Given the description of an element on the screen output the (x, y) to click on. 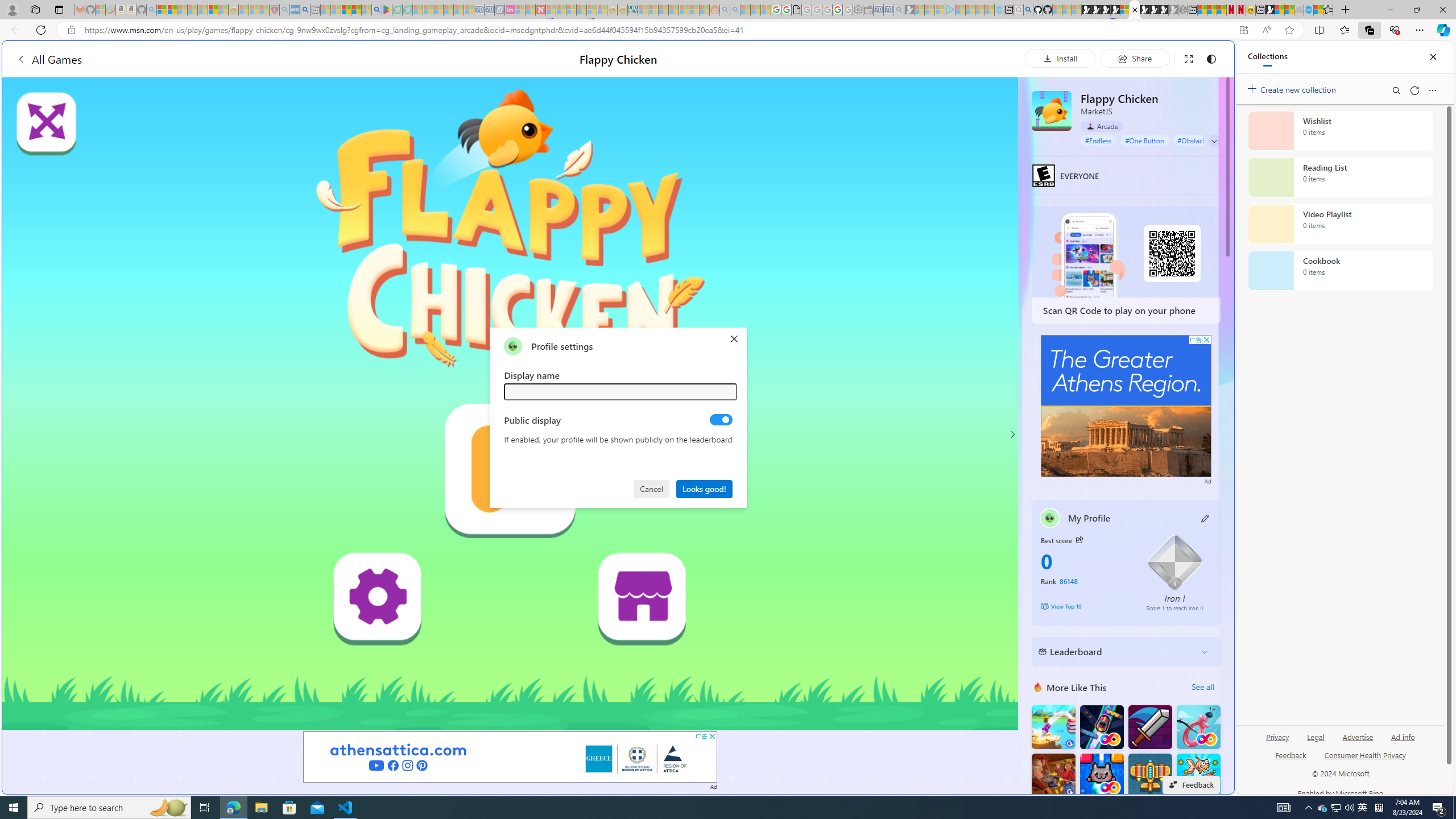
Change to dark mode (1211, 58)
#One Button (1145, 140)
Pets - MSN (356, 9)
Class: text-input (619, 391)
